Given the description of an element on the screen output the (x, y) to click on. 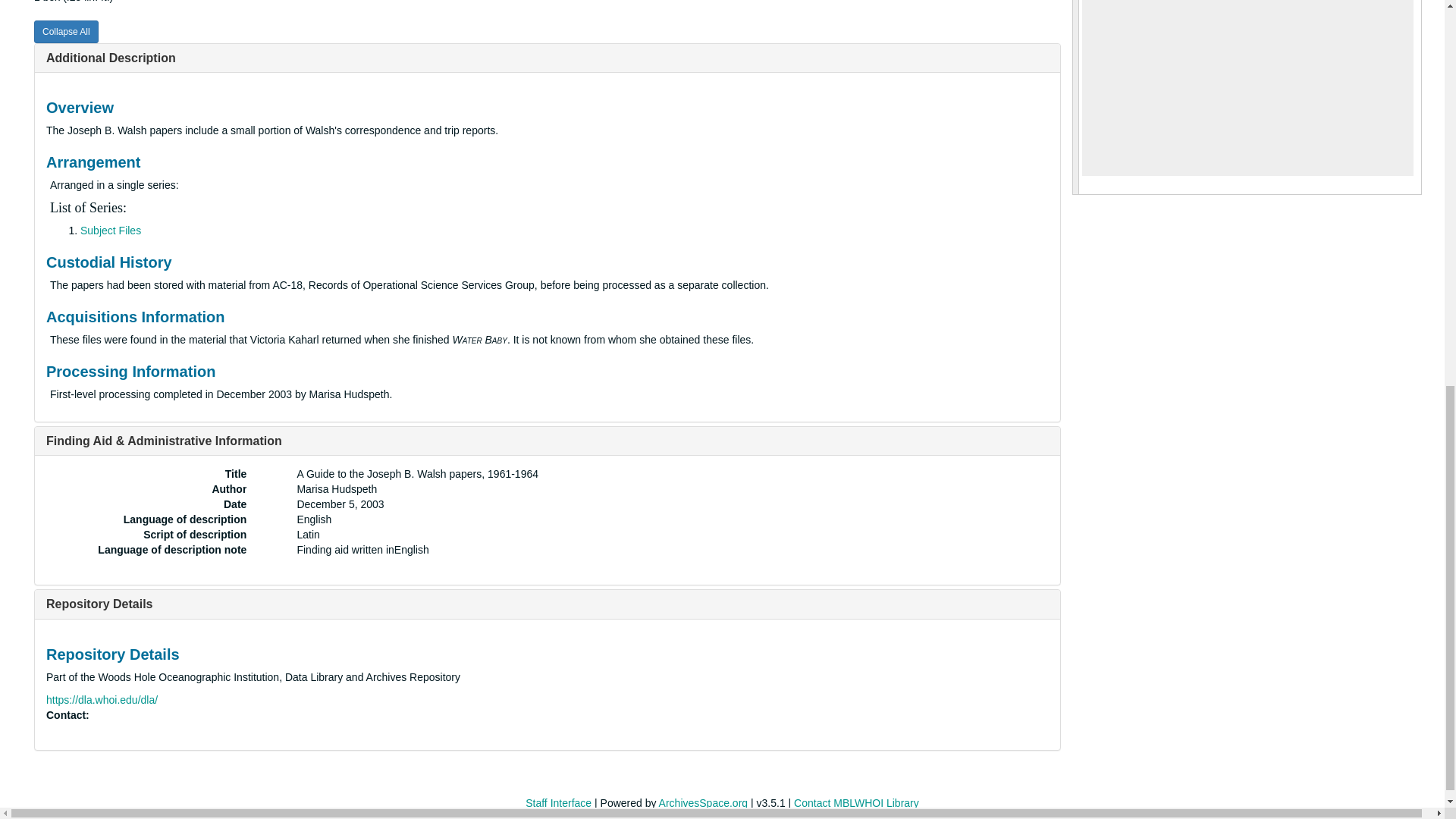
Repository Details (99, 603)
Staff Interface (558, 802)
ArchivesSpace.org (703, 802)
Additional Description (111, 57)
Collapse All (66, 31)
Contact MBLWHOI Library (855, 802)
Subject Files (110, 230)
